Given the description of an element on the screen output the (x, y) to click on. 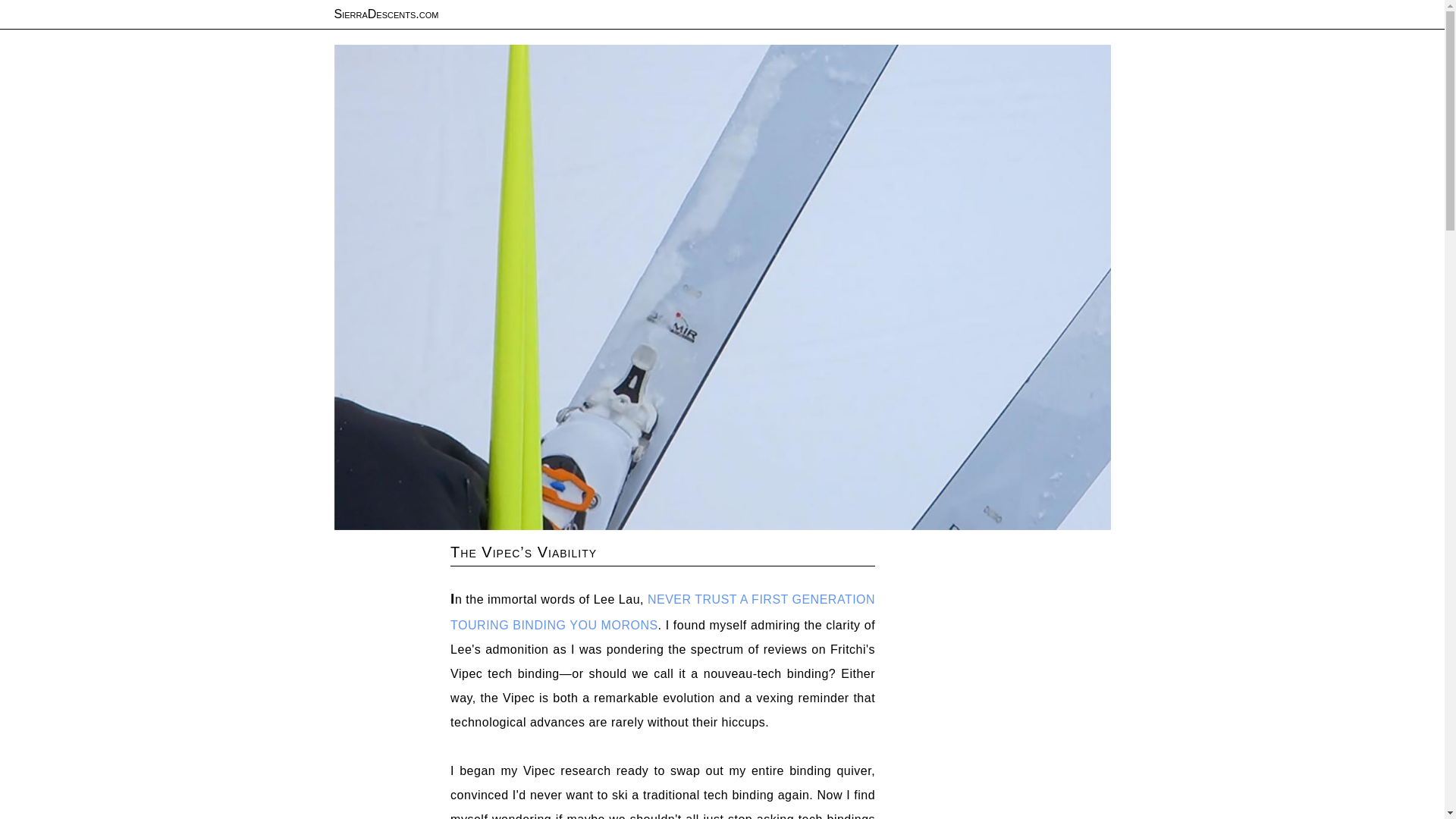
SierraDescents.com (385, 13)
NEVER TRUST A FIRST GENERATION TOURING BINDING YOU MORONS (662, 611)
